Given the description of an element on the screen output the (x, y) to click on. 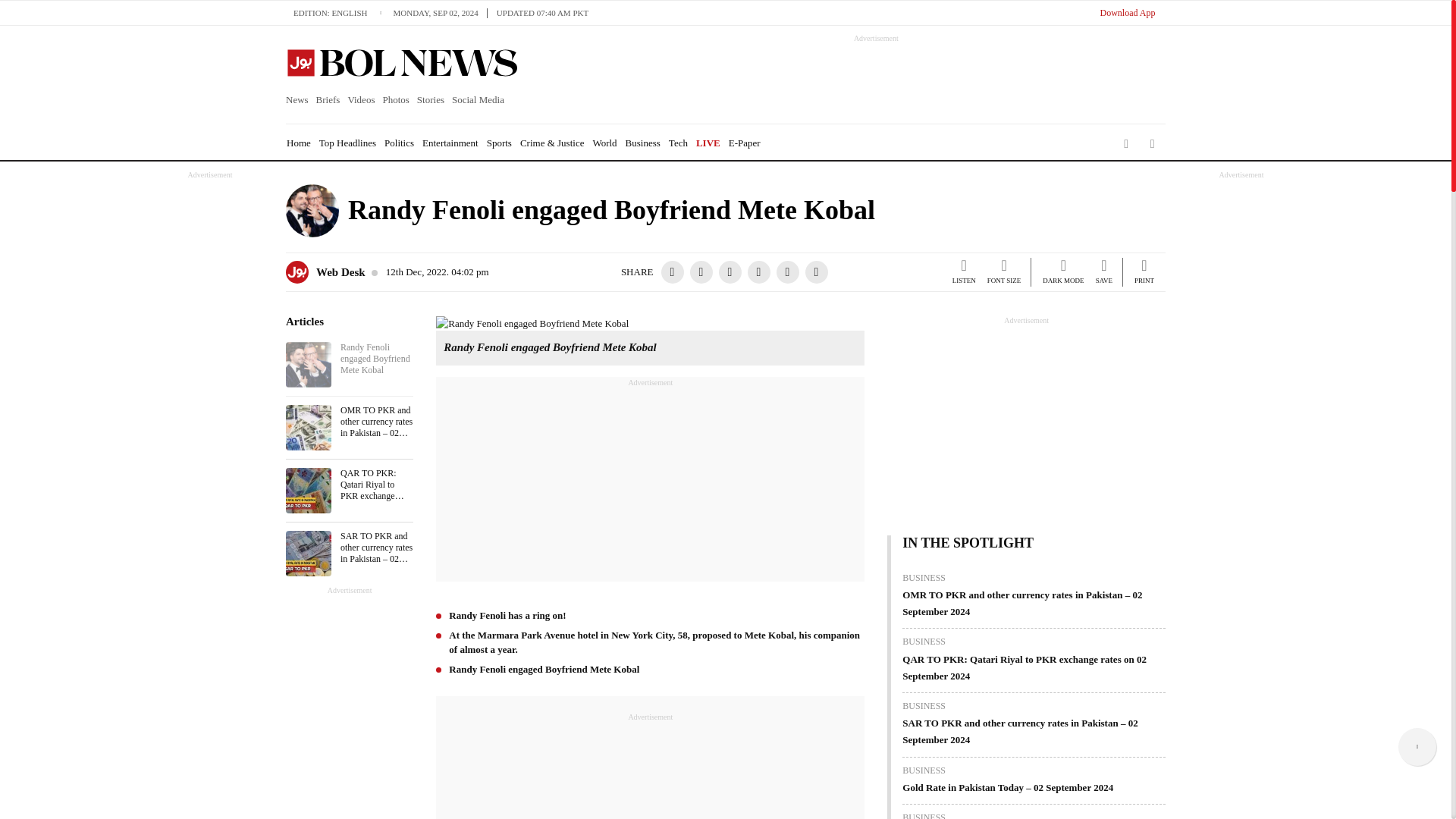
Photos (395, 99)
Social Media (478, 99)
MONDAY, SEP 02, 2024 (439, 12)
UPDATED 07:40 AM PKT (541, 12)
Stories (430, 99)
Videos (360, 99)
Business (643, 143)
Top Headlines (346, 143)
Download App (1127, 12)
Briefs (328, 99)
